Given the description of an element on the screen output the (x, y) to click on. 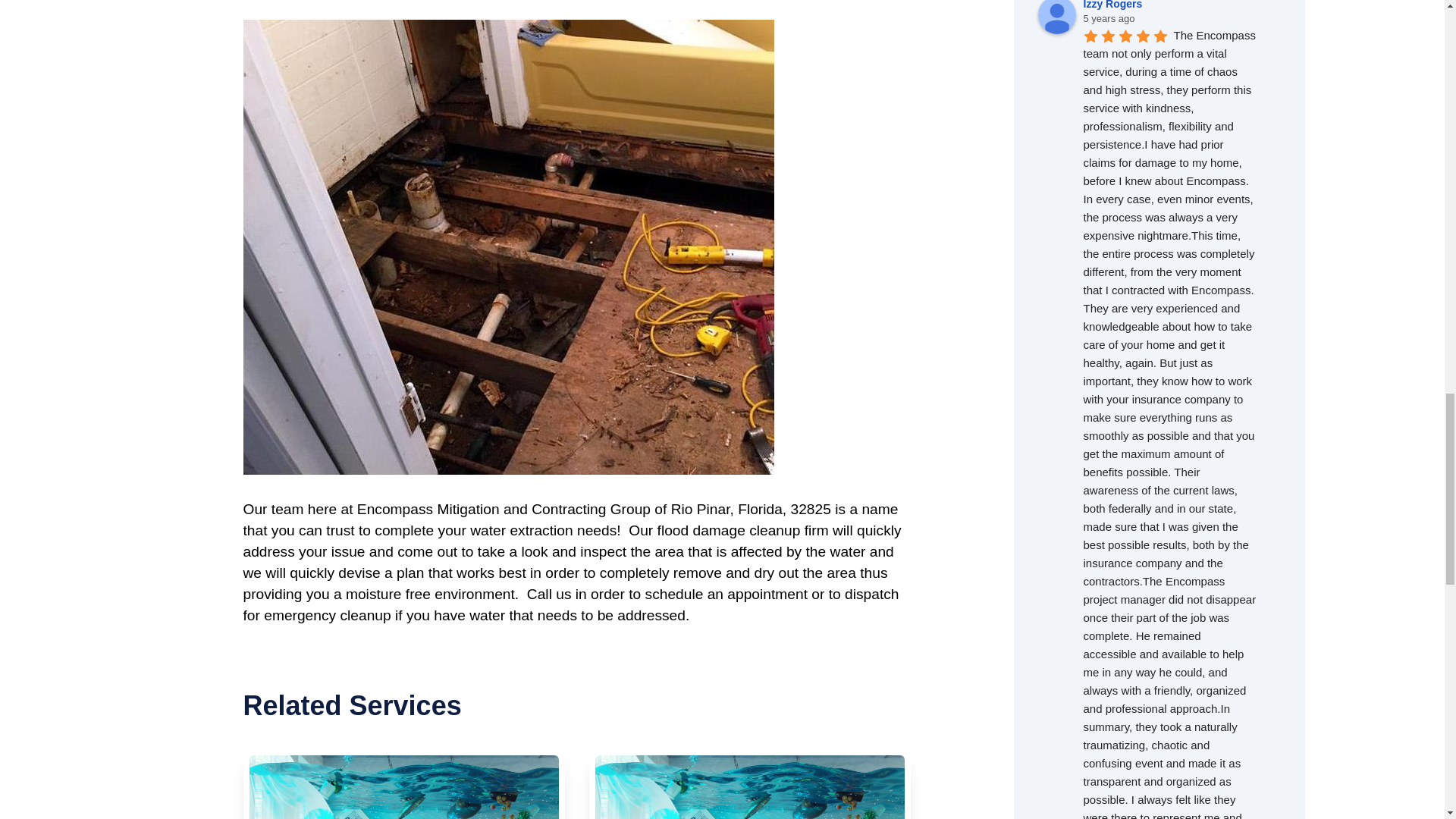
Izzy Rogers (1055, 17)
